Given the description of an element on the screen output the (x, y) to click on. 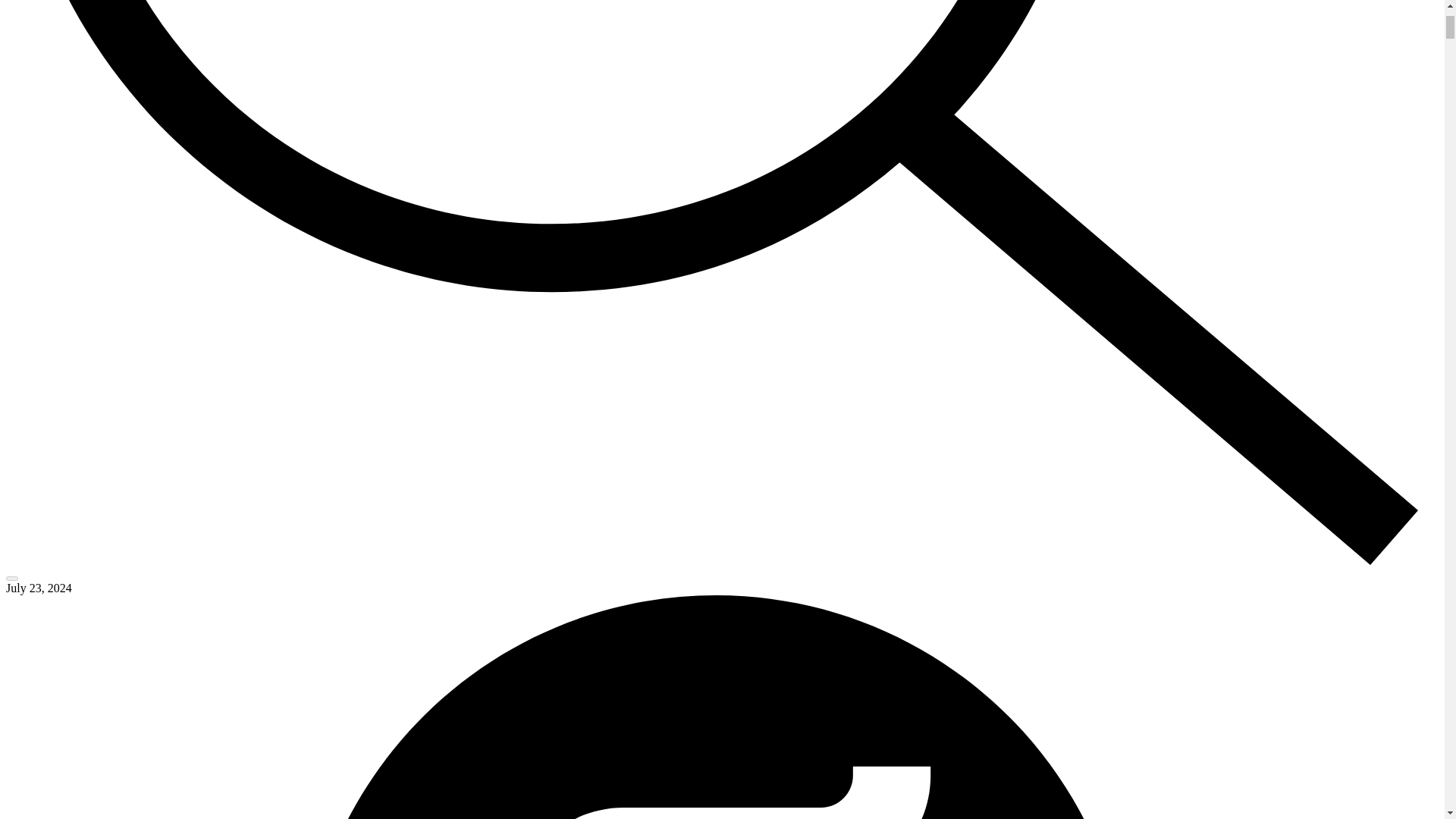
Mobile menu (11, 578)
